Given the description of an element on the screen output the (x, y) to click on. 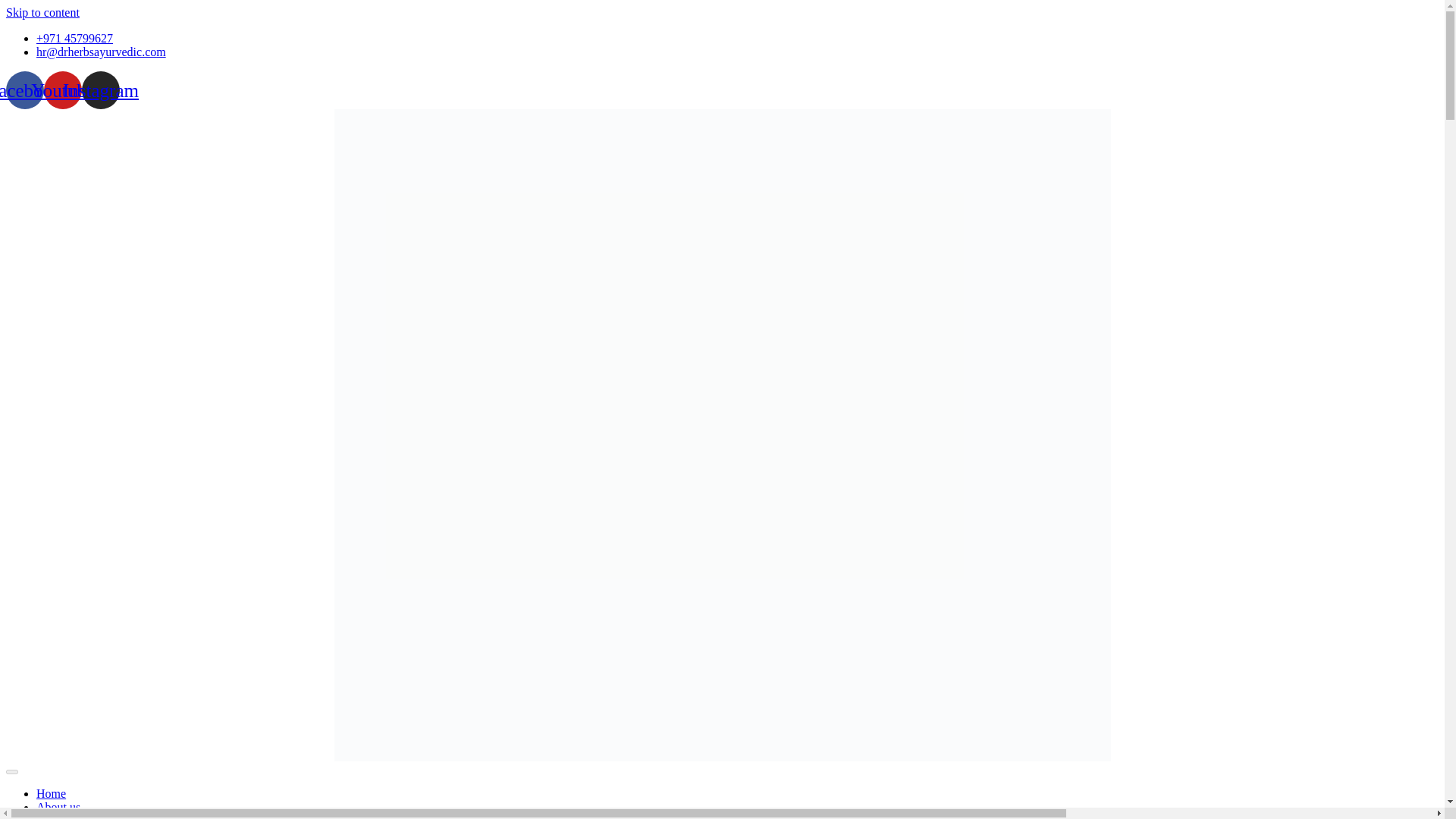
Facebook (24, 89)
About us (58, 807)
Instagram (100, 89)
Our Services (67, 816)
Youtube (62, 89)
Skip to content (42, 11)
Home (50, 793)
